Given the description of an element on the screen output the (x, y) to click on. 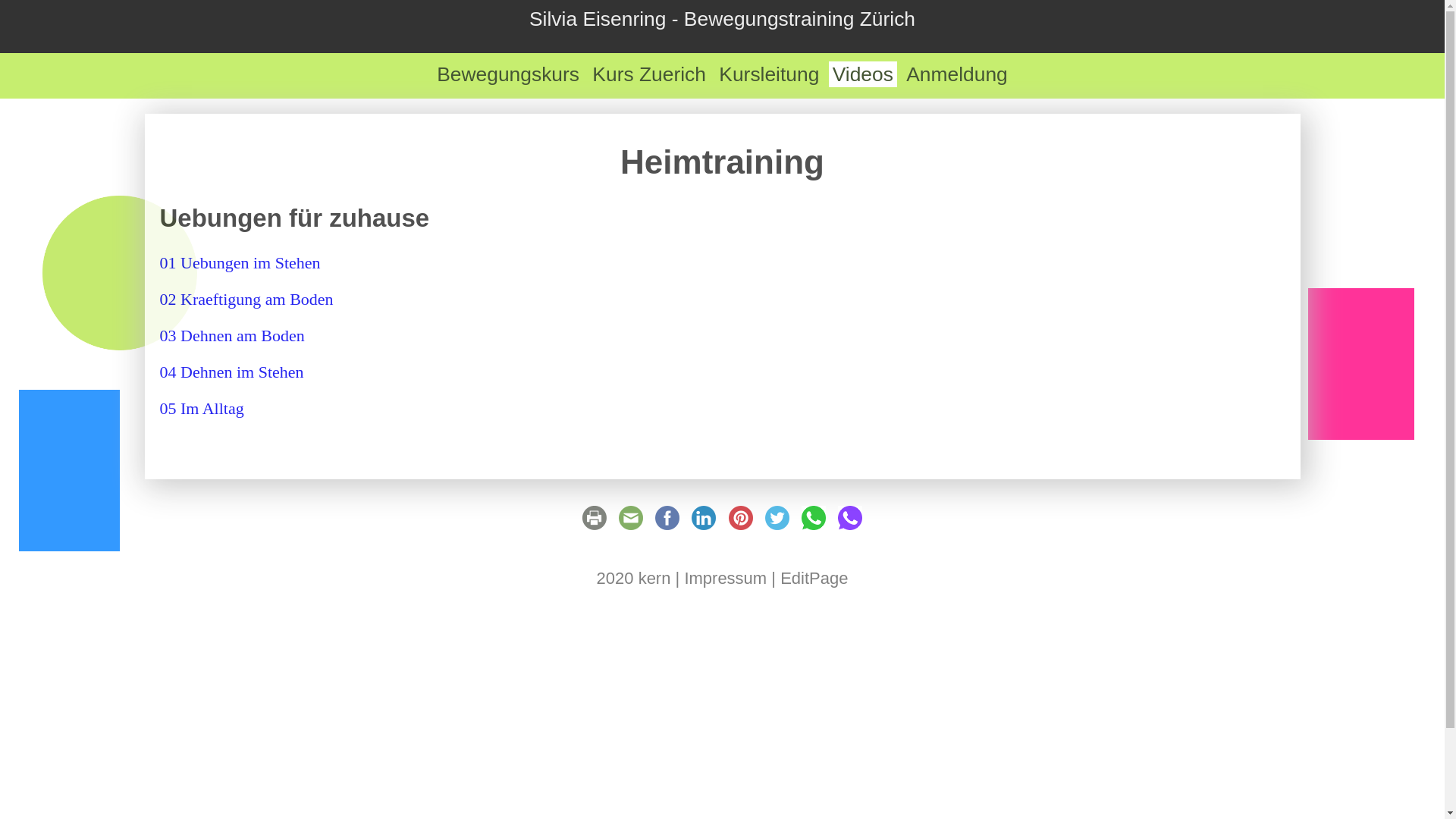
Twitter Element type: hover (777, 523)
Whatsapp Element type: hover (813, 523)
EditPage Element type: text (813, 577)
Impressum Element type: text (725, 577)
03 Dehnen am Boden Element type: text (231, 335)
Bewegungskurs Element type: text (508, 74)
Kursleitung Element type: text (768, 74)
Whatsapp Web Element type: hover (849, 523)
05 Im Alltag Element type: text (201, 407)
01 Uebungen im Stehen Element type: text (239, 262)
Kurs Zuerich Element type: text (648, 74)
Anmeldung Element type: text (956, 74)
LinkedIn Element type: hover (703, 523)
Email Element type: hover (630, 523)
Videos Element type: text (862, 74)
Print Element type: hover (594, 523)
04 Dehnen im Stehen Element type: text (231, 371)
Pinterest Element type: hover (740, 523)
02 Kraeftigung am Boden Element type: text (245, 298)
Facebook Element type: hover (667, 523)
